Given the description of an element on the screen output the (x, y) to click on. 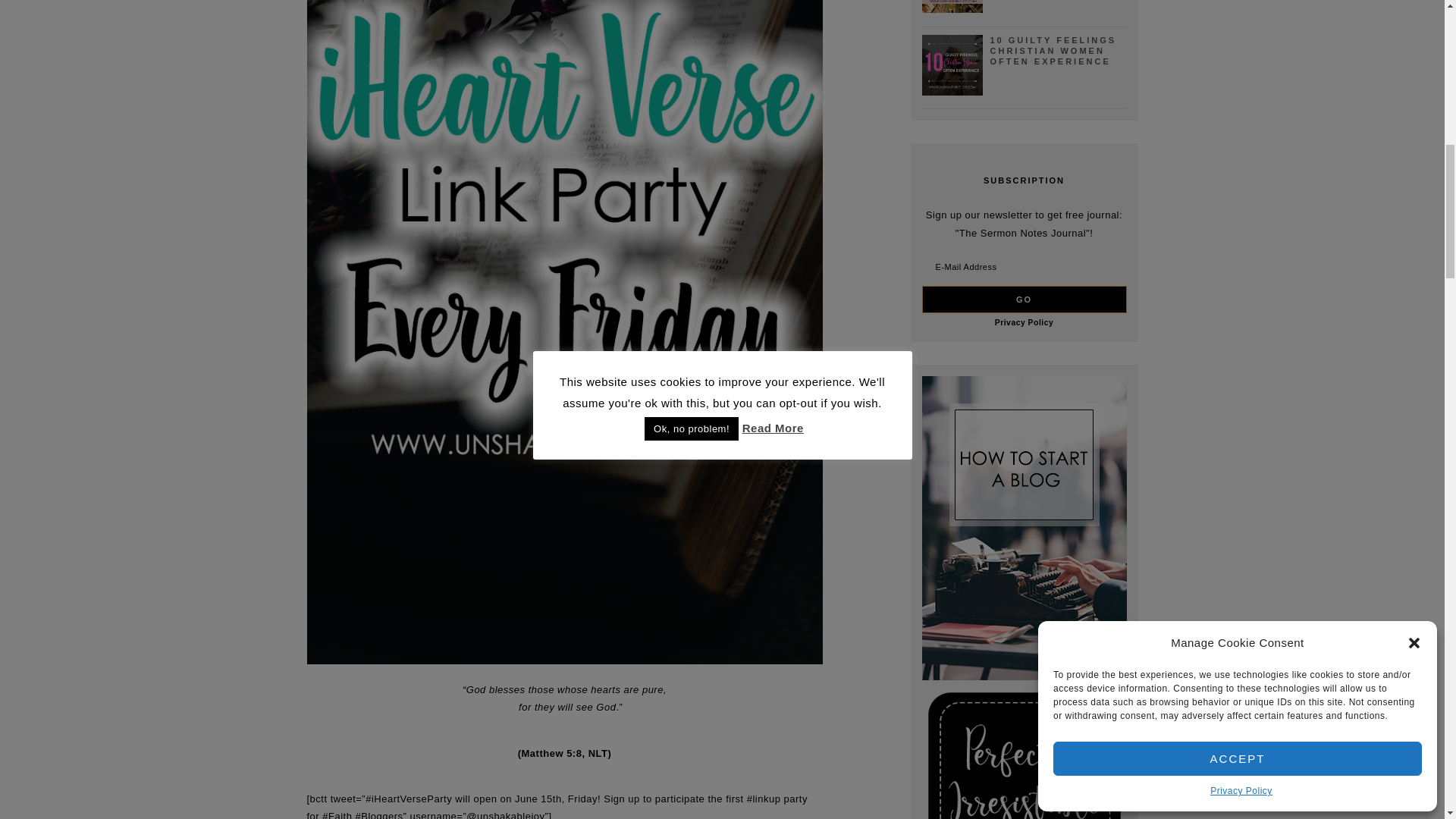
Go (1023, 298)
